Given the description of an element on the screen output the (x, y) to click on. 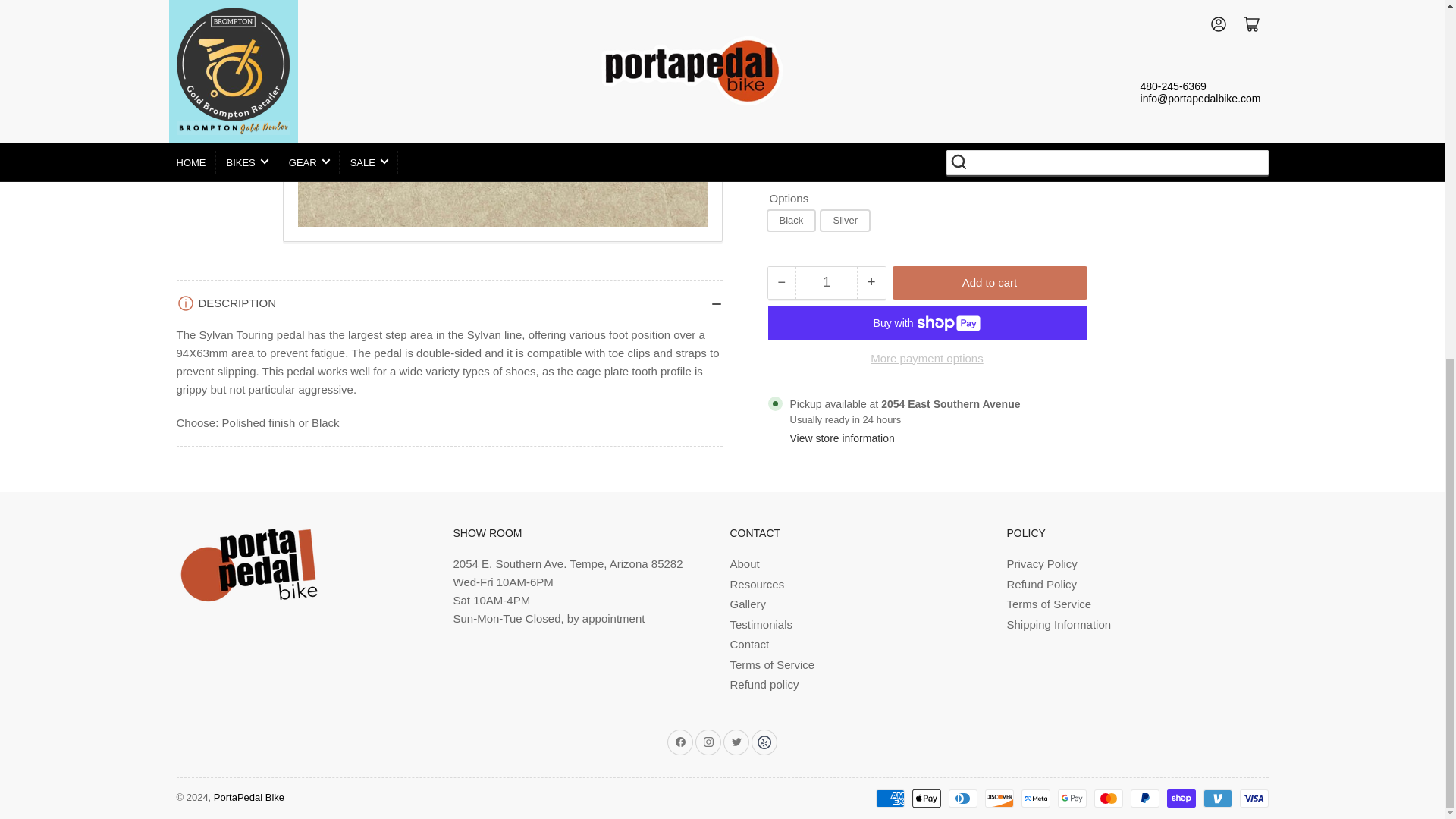
Discover (998, 798)
Apple Pay (925, 798)
Diners Club (961, 798)
American Express (889, 798)
Meta Pay (1034, 798)
Google Pay (1071, 798)
1 (825, 69)
Mastercard (1107, 798)
